Given the description of an element on the screen output the (x, y) to click on. 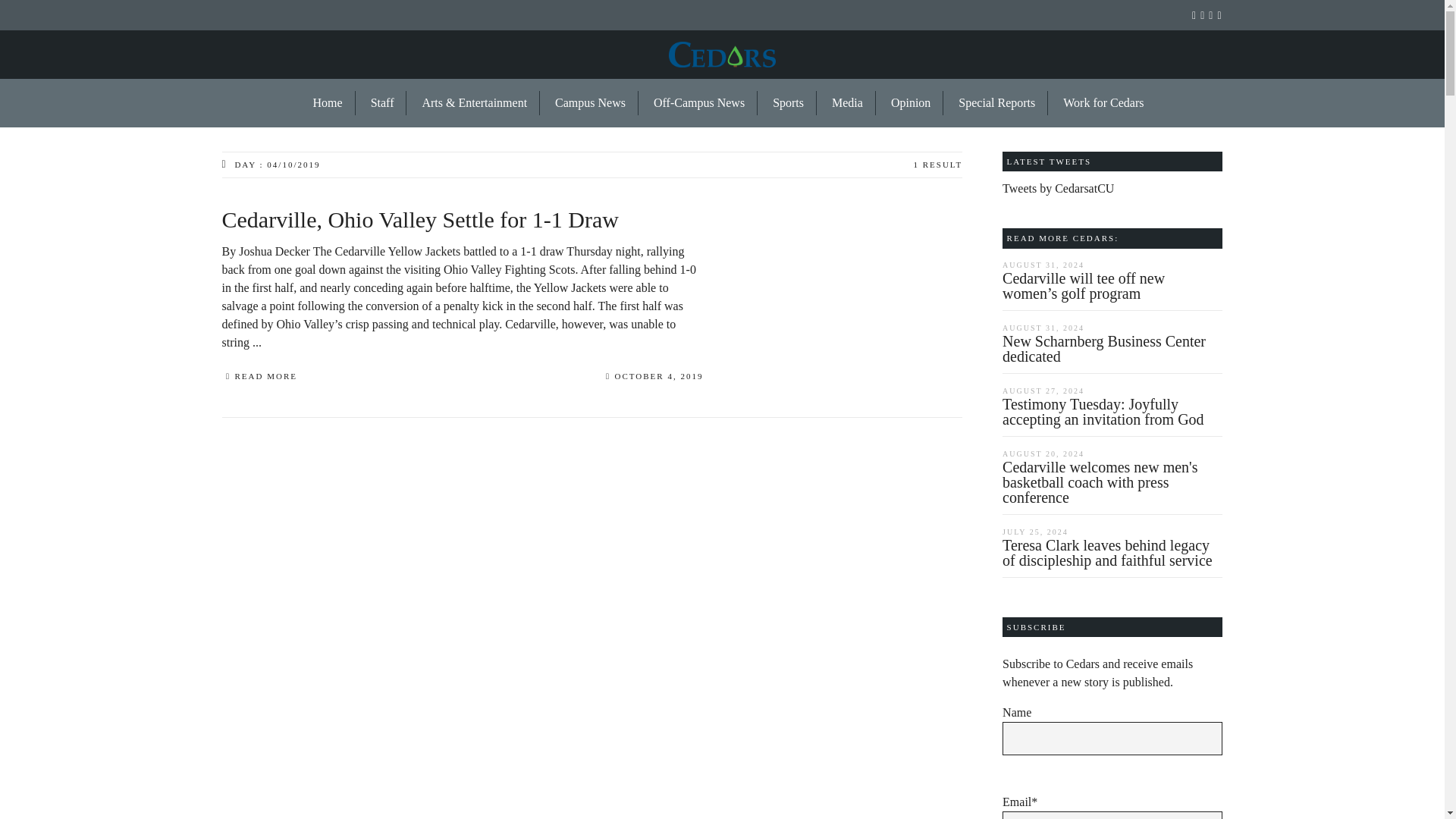
Campus News (591, 102)
Opinion (911, 102)
Sports (788, 102)
Home (328, 102)
Off-Campus News (699, 102)
Staff (382, 102)
Work for Cedars (1096, 102)
Special Reports (997, 102)
Media (847, 102)
